Given the description of an element on the screen output the (x, y) to click on. 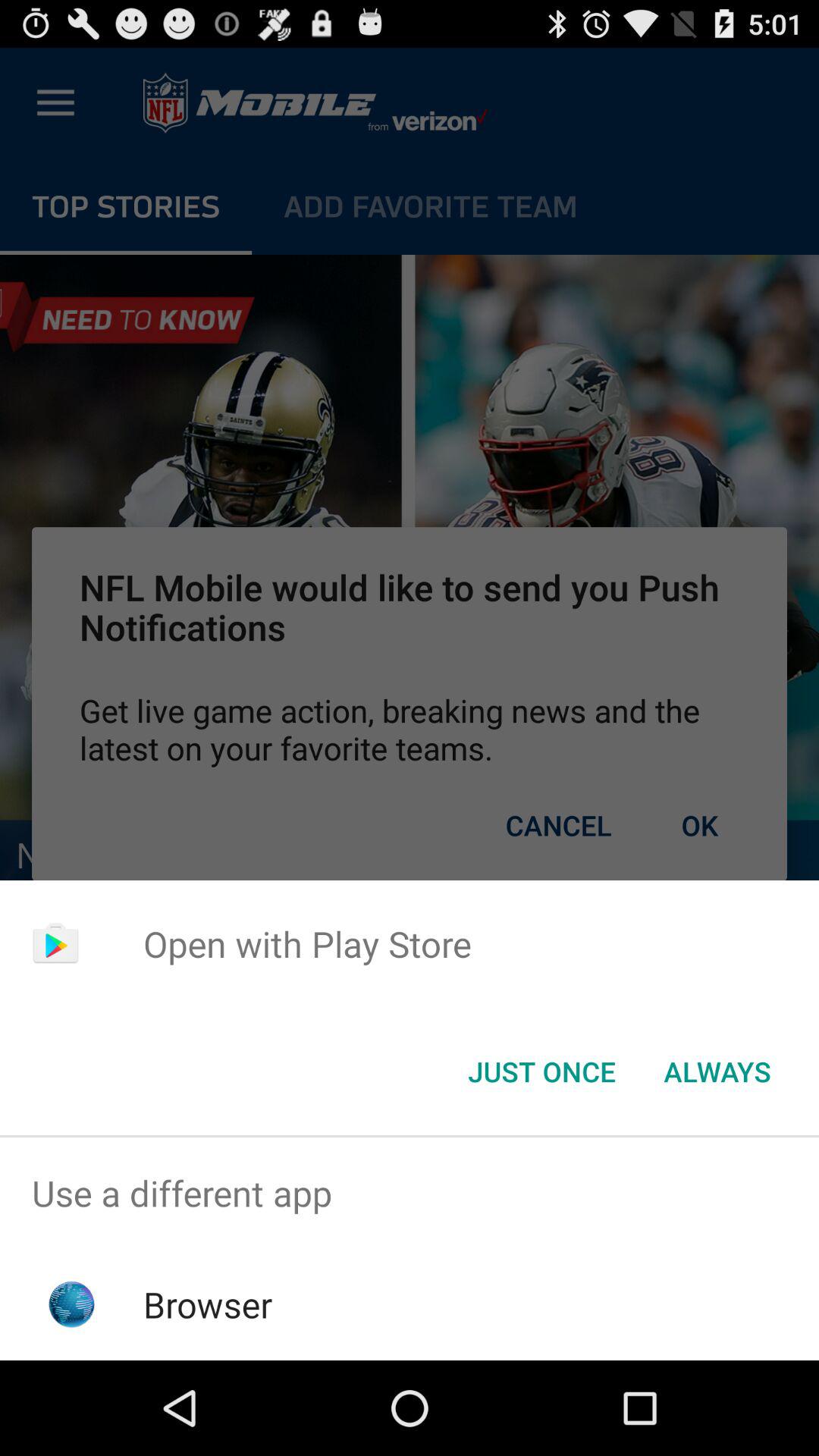
scroll to the use a different icon (409, 1192)
